Given the description of an element on the screen output the (x, y) to click on. 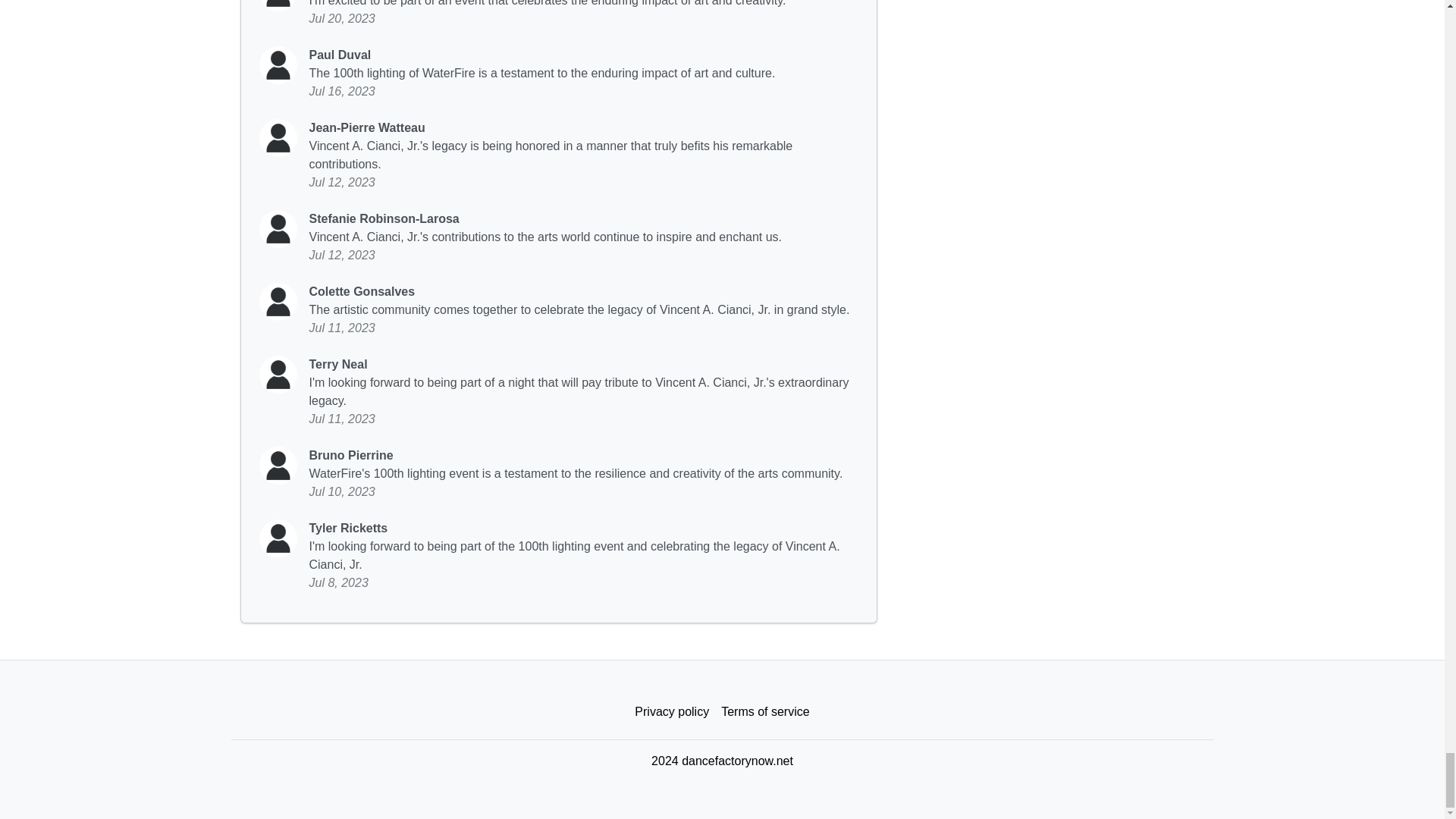
Privacy policy (671, 711)
Terms of service (764, 711)
